Given the description of an element on the screen output the (x, y) to click on. 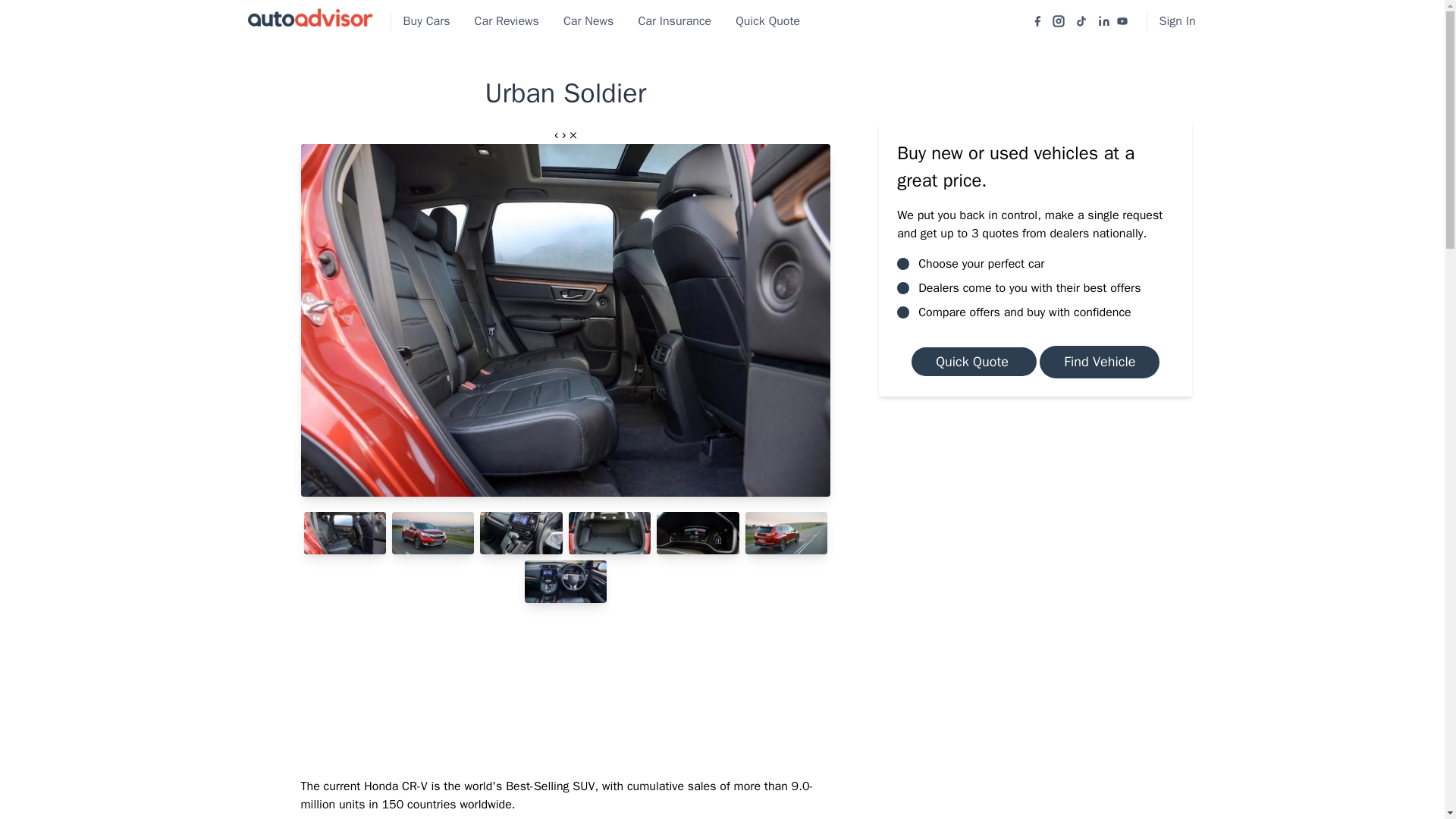
3rd party ad content (1035, 533)
Buy Cars (427, 21)
3rd party ad content (565, 688)
